Given the description of an element on the screen output the (x, y) to click on. 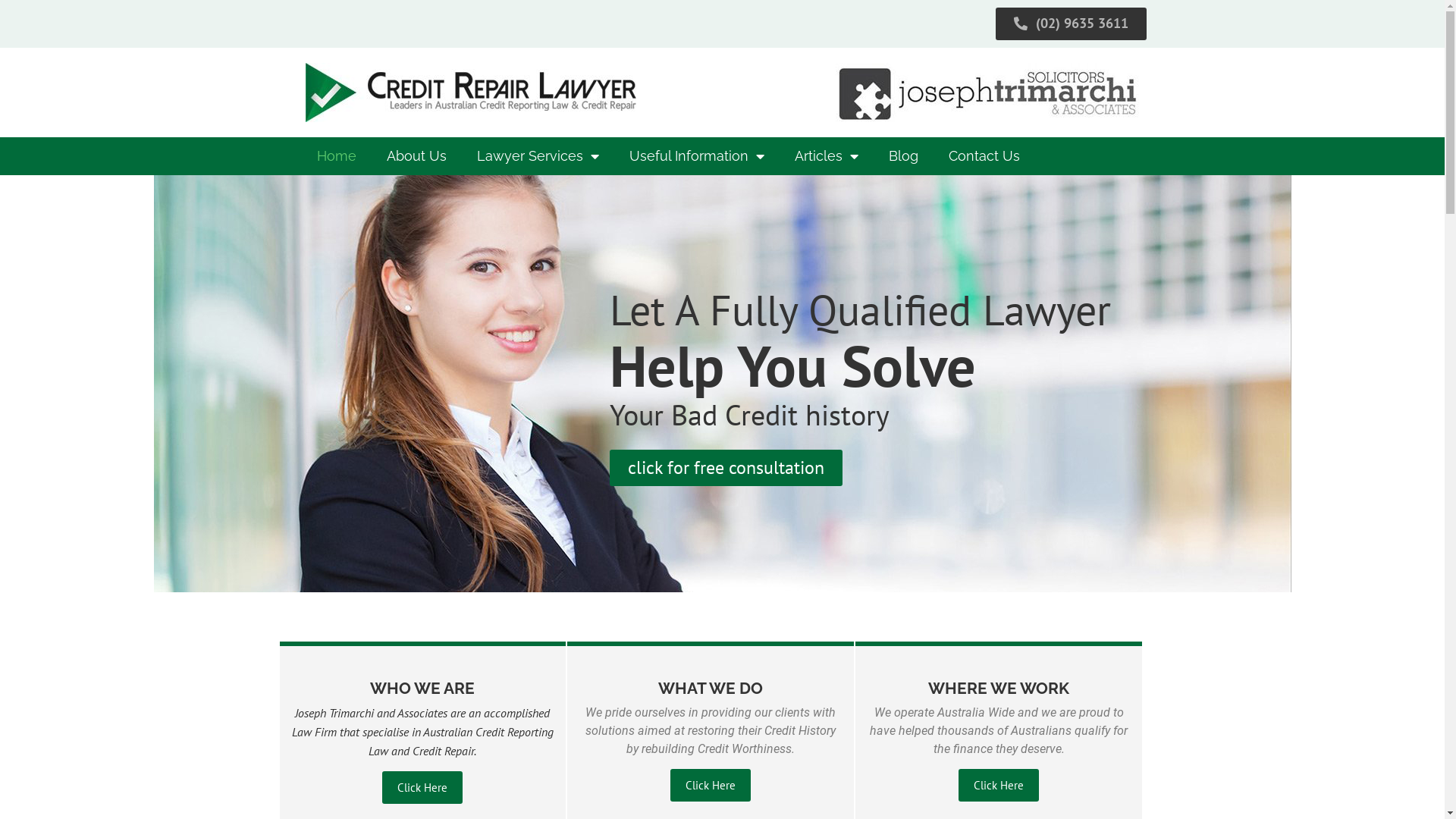
Click Here Element type: text (422, 787)
Home Element type: text (336, 155)
Click Here Element type: text (998, 784)
Blog Element type: text (903, 155)
click for free consultation Element type: text (725, 466)
About Us Element type: text (416, 155)
Contact Us Element type: text (983, 155)
Useful Information Element type: text (696, 155)
(02) 9635 3611 Element type: text (1070, 23)
Click Here Element type: text (710, 784)
Articles Element type: text (826, 155)
Lawyer Services Element type: text (537, 155)
